Given the description of an element on the screen output the (x, y) to click on. 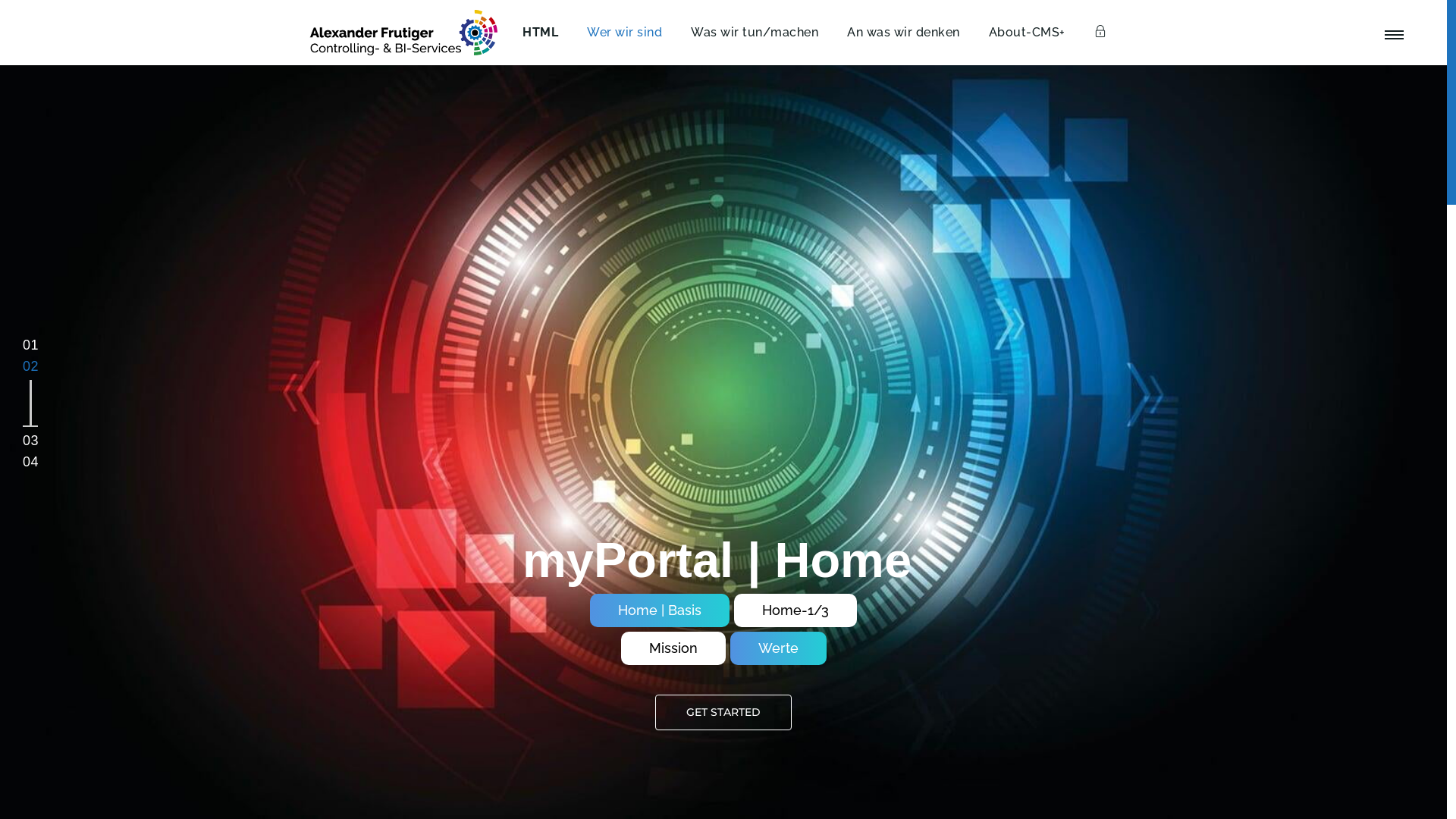
Start CMS Element type: text (786, 610)
Scroll Down Element type: text (723, 788)
An was wir denken Element type: text (900, 32)
About-CMS+ Element type: text (1023, 32)
Mission Element type: text (672, 648)
Animation Element type: text (660, 610)
Was wir tun/machen Element type: text (751, 32)
GET STARTED Element type: text (723, 712)
Werte Element type: text (777, 648)
Wer wir sind Element type: text (621, 32)
HTML Element type: text (537, 32)
